Given the description of an element on the screen output the (x, y) to click on. 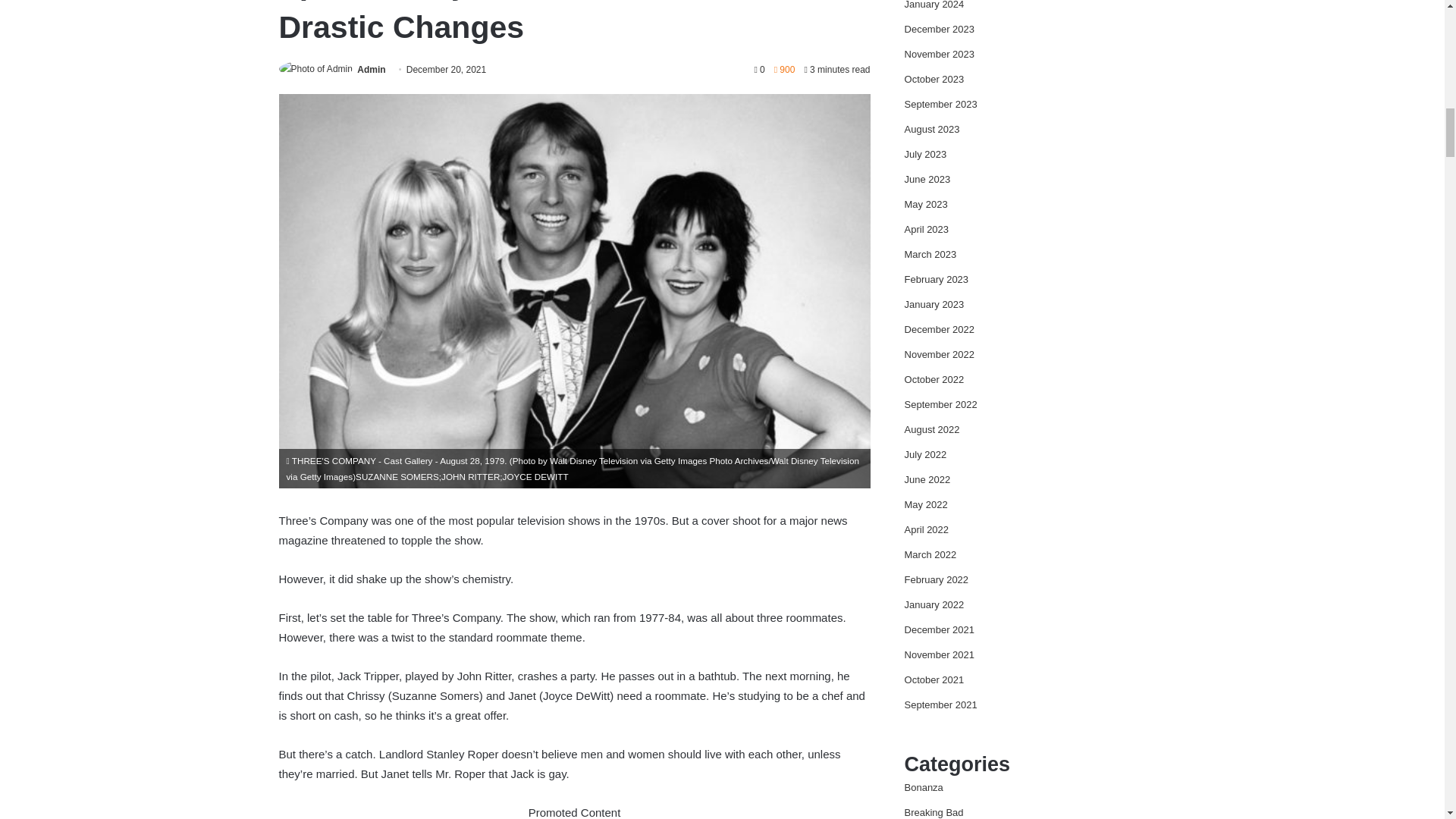
Admin (370, 69)
Admin (370, 69)
